Given the description of an element on the screen output the (x, y) to click on. 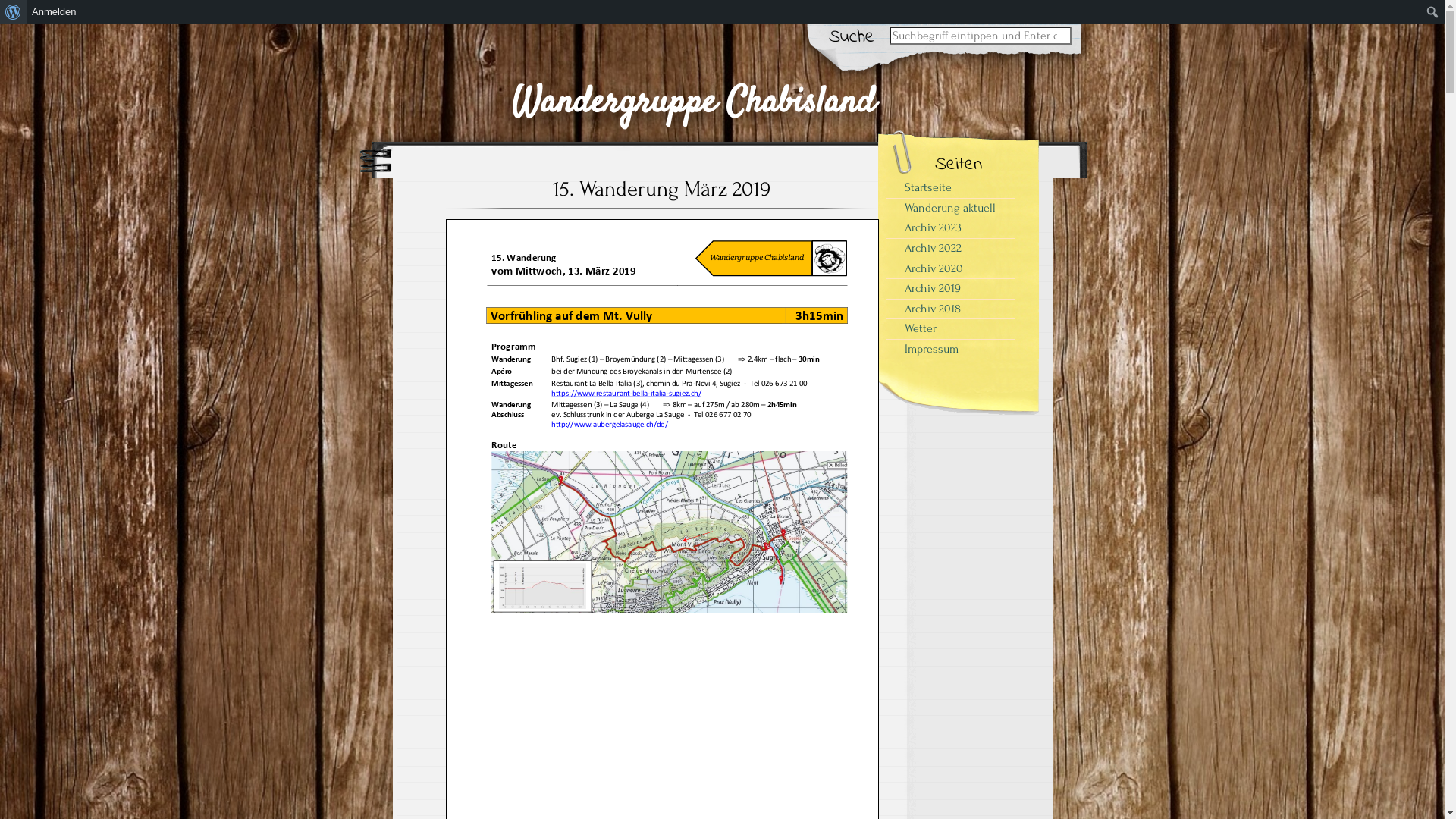
Anmelden Element type: text (54, 12)
Impressum Element type: text (949, 348)
Search Element type: text (22, 9)
Suchen Element type: text (18, 13)
Archiv 2019 Element type: text (949, 288)
Archiv 2023 Element type: text (949, 227)
Wandergruppe Chabisland Element type: text (692, 84)
Archiv 2020 Element type: text (949, 268)
Wetter Element type: text (949, 328)
Search Element type: hover (980, 35)
Startseite Element type: text (949, 187)
Archiv 2018 Element type: text (949, 308)
Wanderung aktuell Element type: text (949, 207)
Archiv 2022 Element type: text (949, 248)
